Given the description of an element on the screen output the (x, y) to click on. 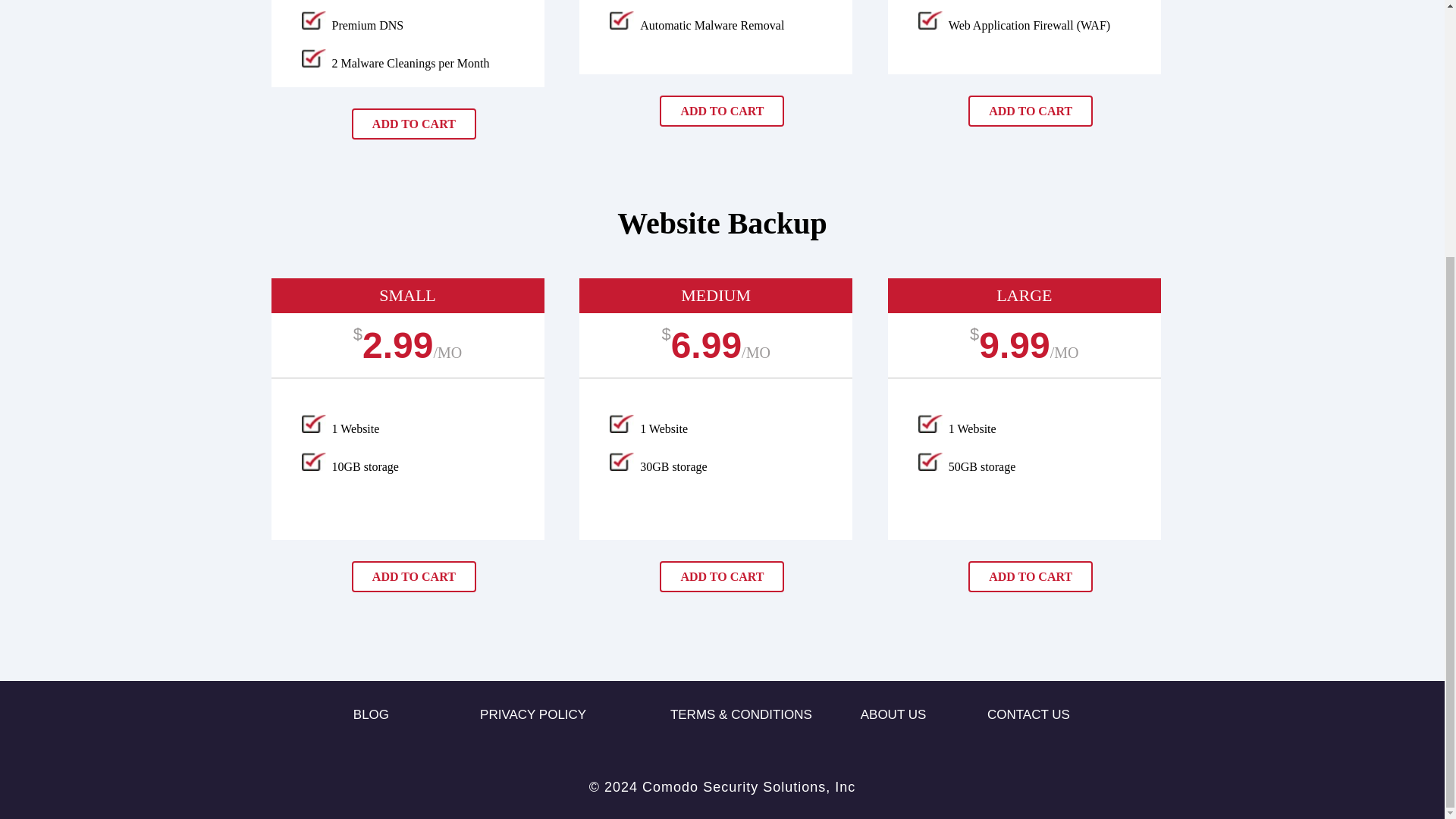
ADD TO CART (1030, 110)
ADD TO CART (1030, 576)
ADD TO CART (721, 576)
ADD TO CART (414, 576)
ADD TO CART (414, 123)
ADD TO CART (721, 110)
